Given the description of an element on the screen output the (x, y) to click on. 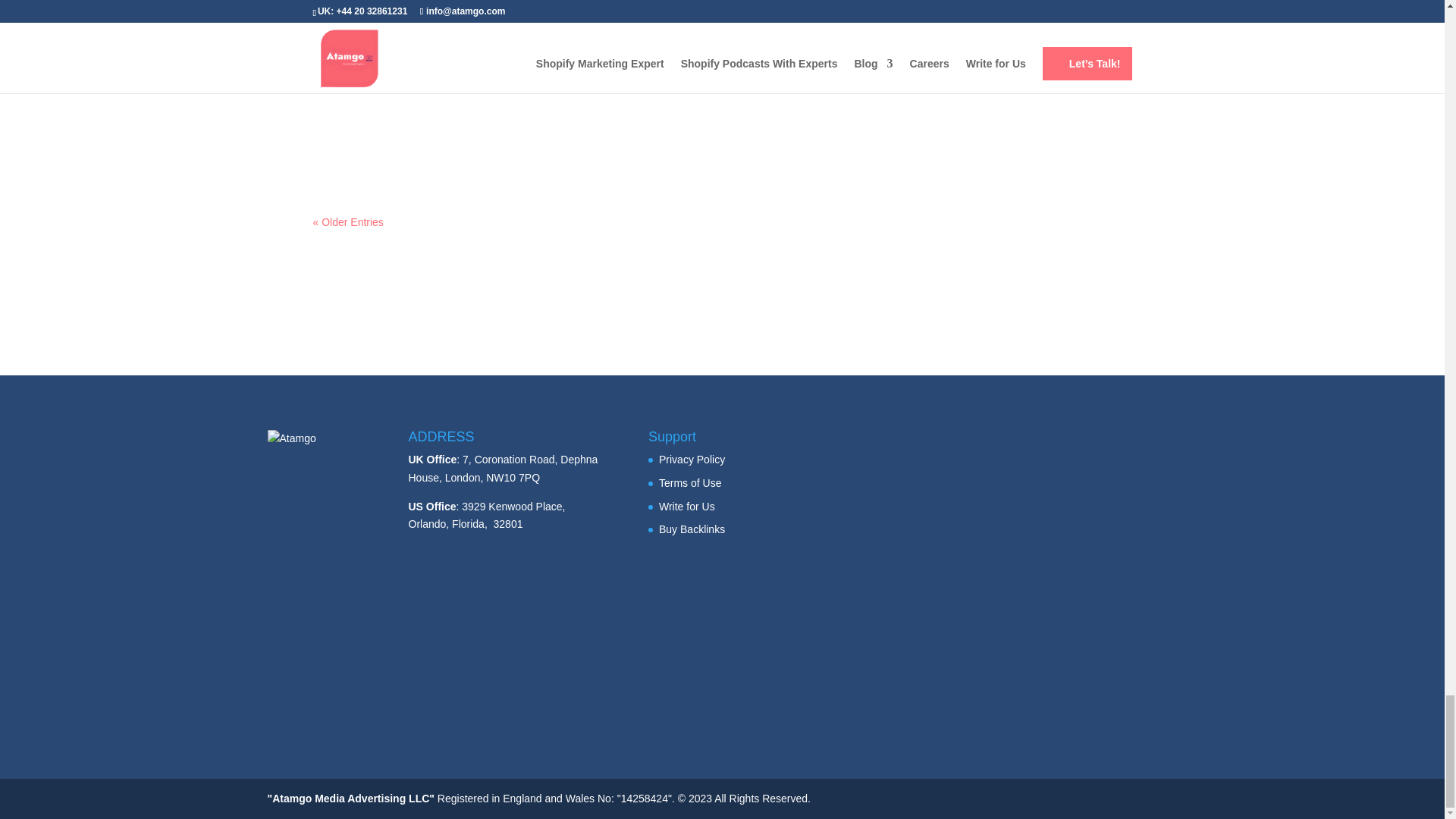
Buy Backlinks (692, 529)
Terms of Use (689, 482)
Write for Us (686, 506)
Privacy Policy (692, 459)
